Given the description of an element on the screen output the (x, y) to click on. 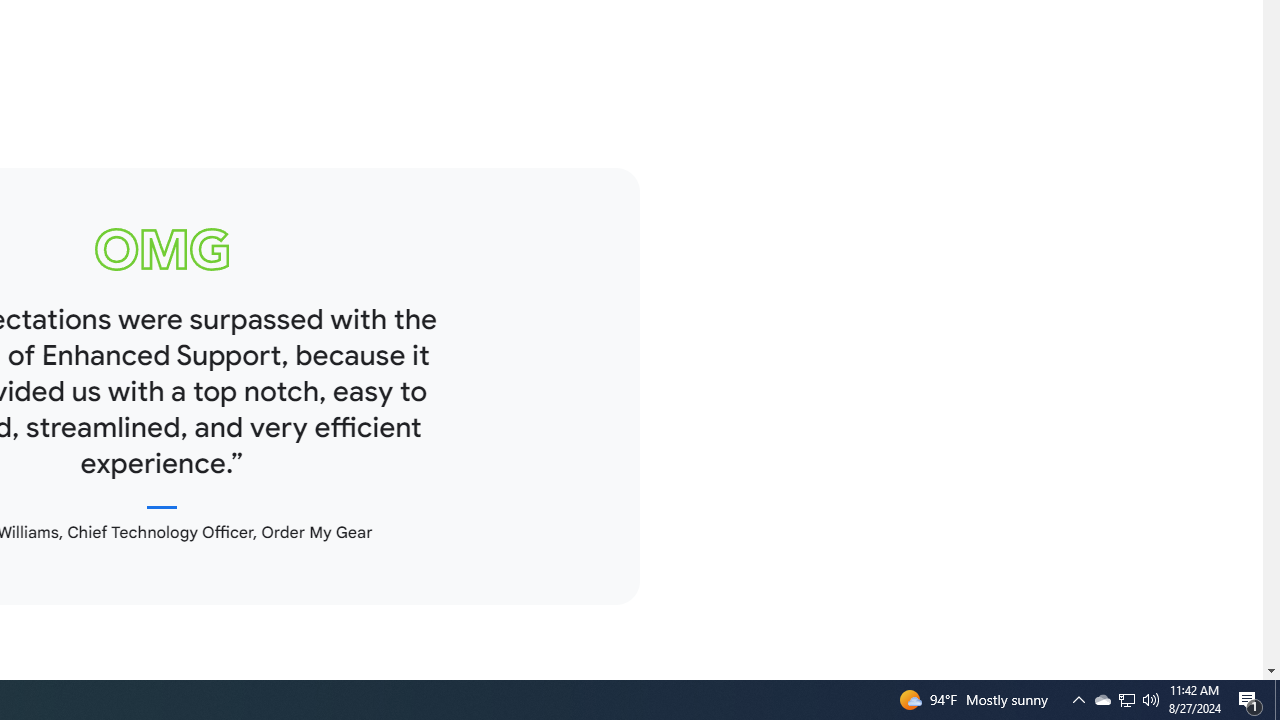
omg logo (161, 249)
